Given the description of an element on the screen output the (x, y) to click on. 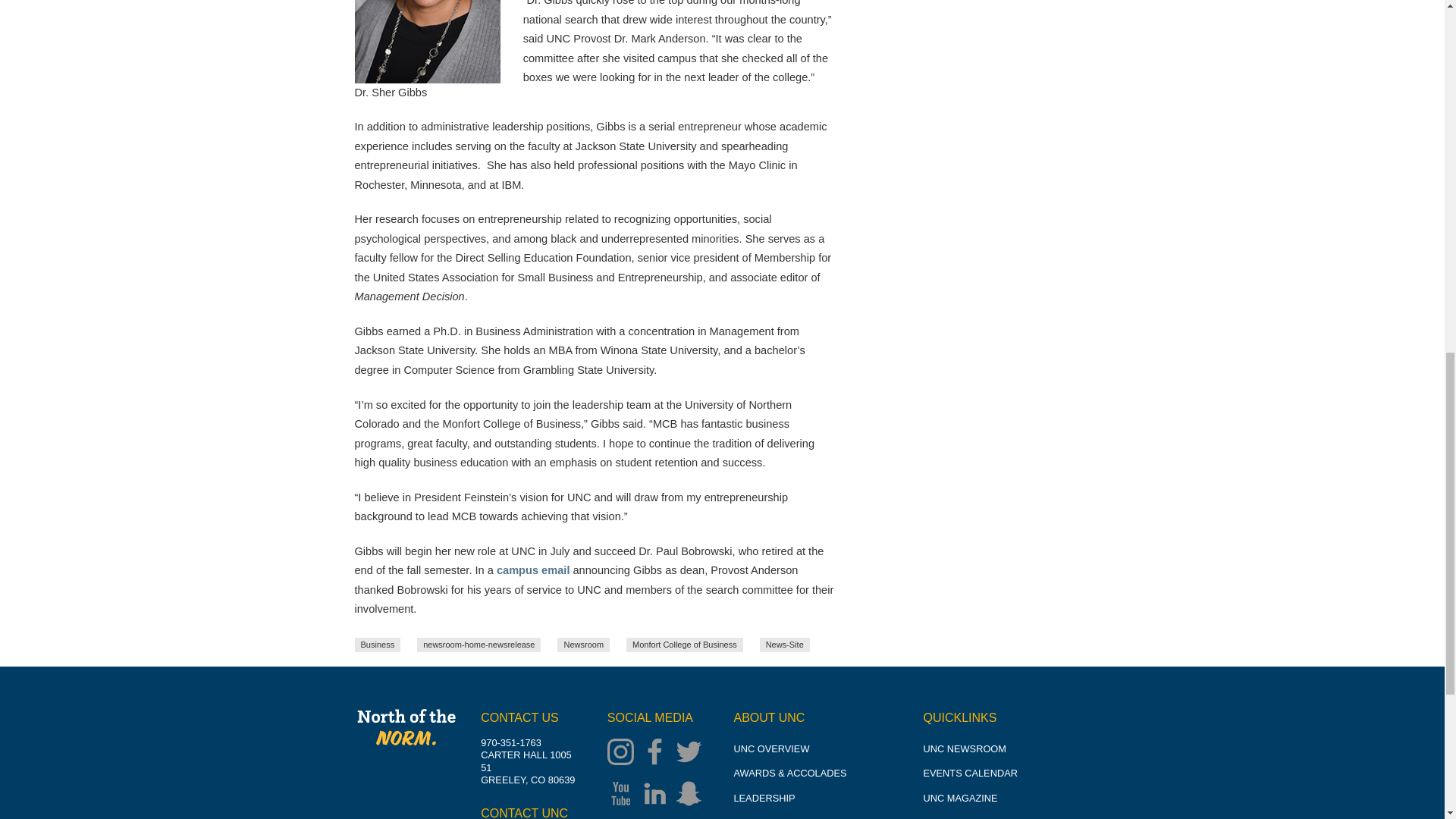
Snapchat (692, 795)
LinkedIn (658, 795)
YouTube (624, 795)
Twitter (692, 754)
Instagram (624, 754)
Facebook (658, 754)
